Given the description of an element on the screen output the (x, y) to click on. 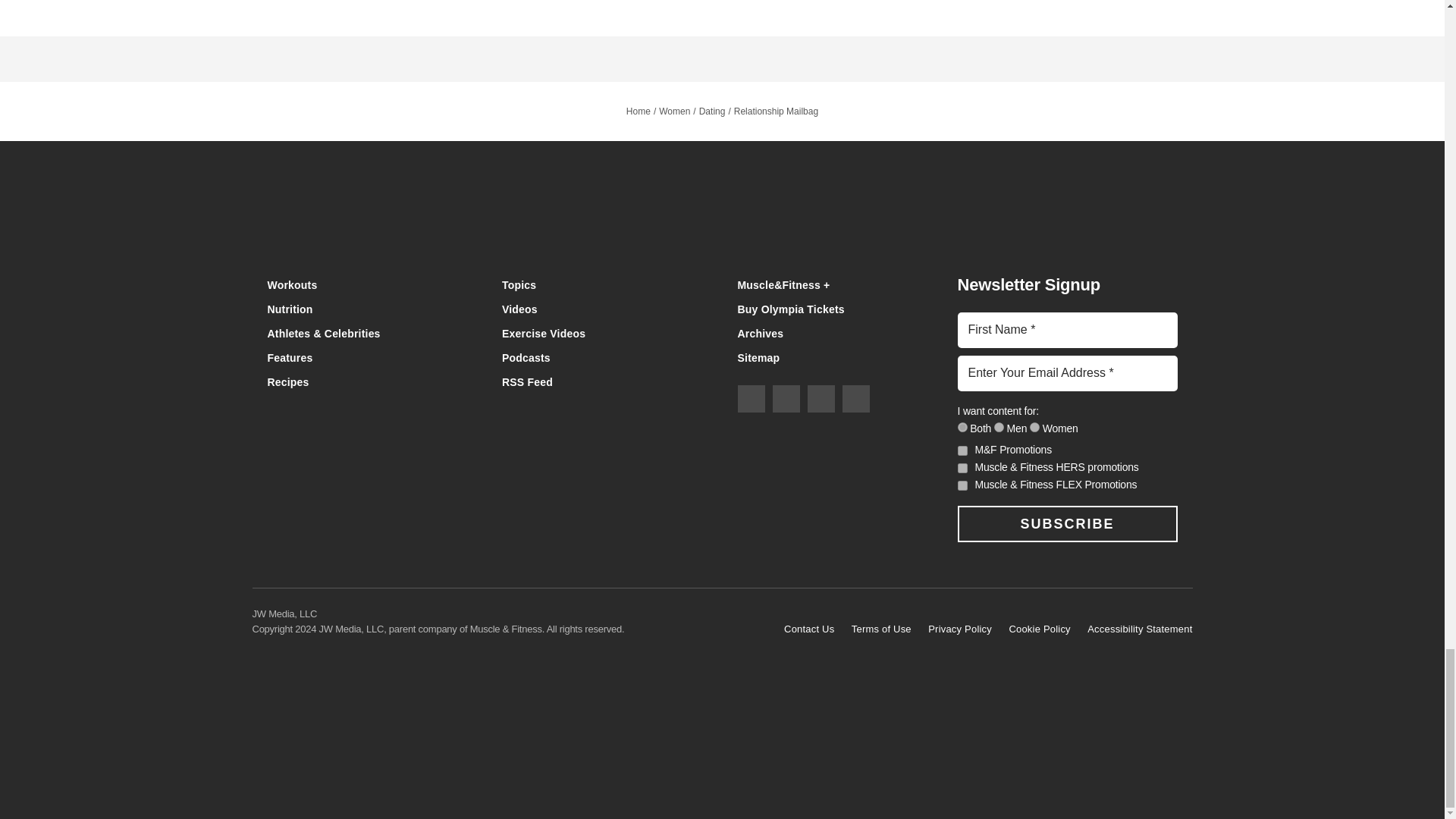
715 (1034, 427)
711 (961, 427)
713 (999, 427)
